Given the description of an element on the screen output the (x, y) to click on. 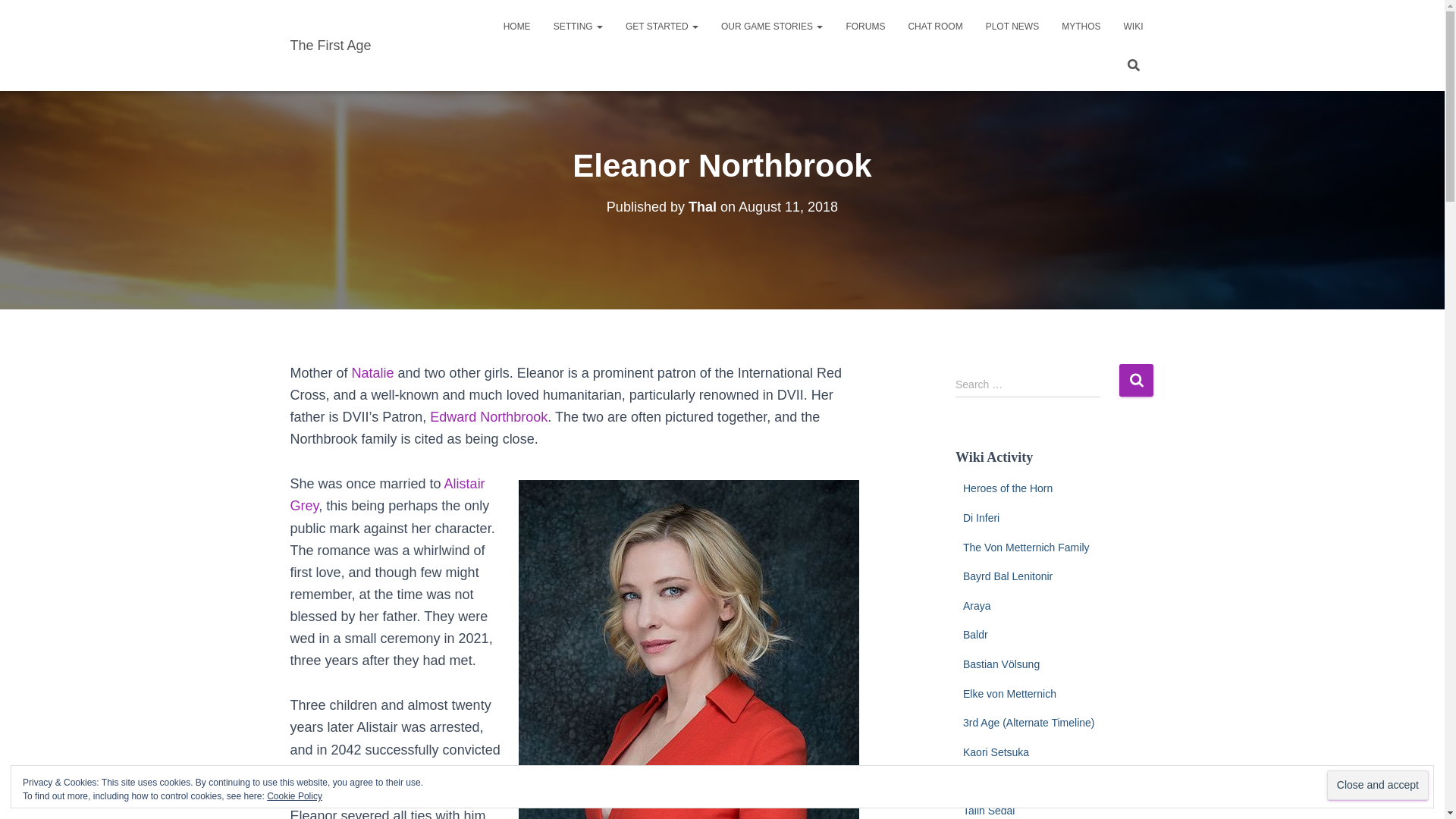
Natalie (373, 372)
The First Age (330, 45)
The First Age (330, 45)
Get Started (662, 26)
Search (1136, 379)
SETTING (577, 26)
Search (1136, 379)
Alistair Grey (386, 494)
Setting (577, 26)
CHAT ROOM (935, 26)
